Given the description of an element on the screen output the (x, y) to click on. 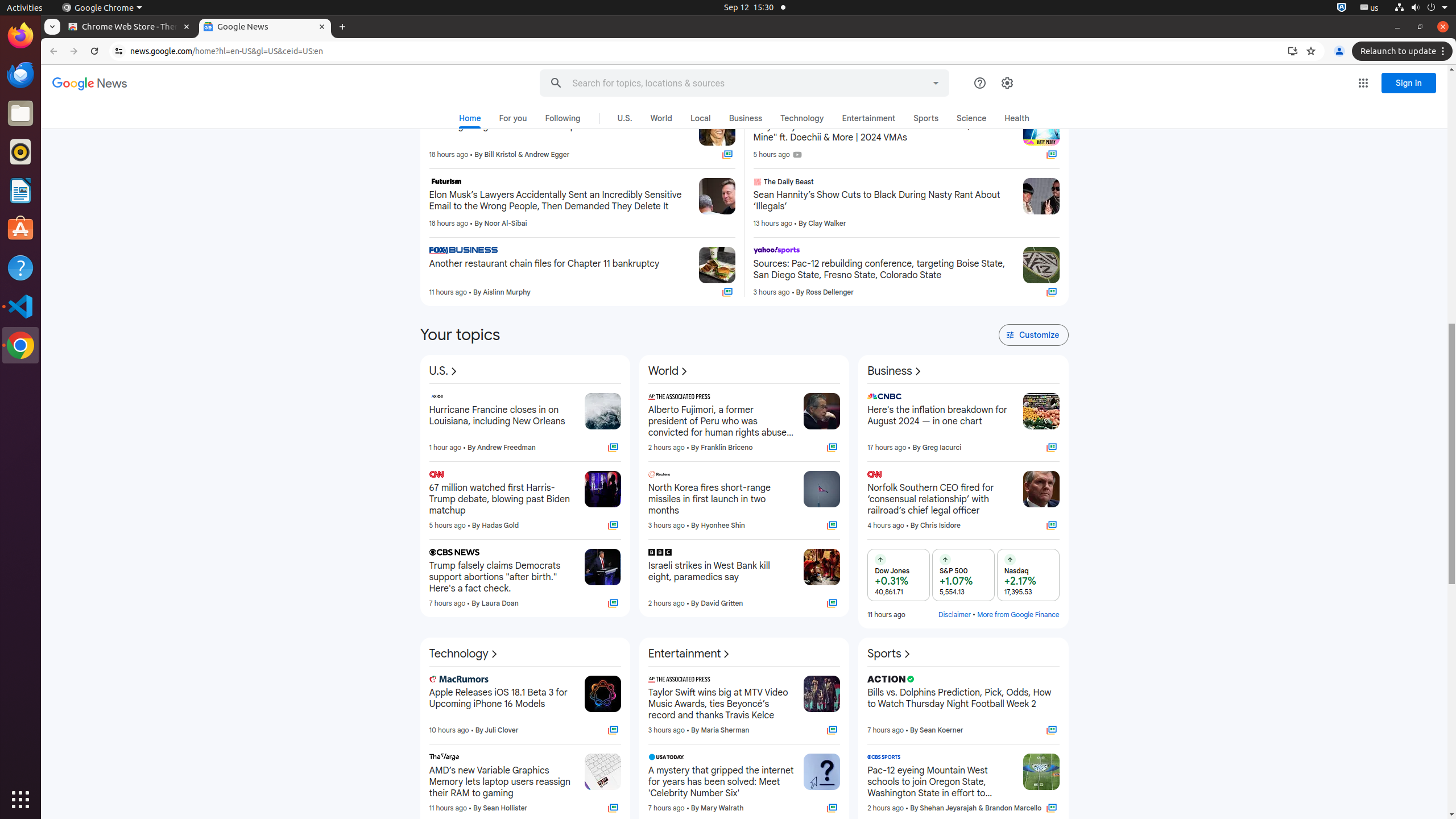
Reload Element type: push-button (94, 50)
For you Element type: menu-item (512, 118)
Google apps Element type: push-button (1362, 82)
More - North Korea fires short-range missiles in first launch in two months Element type: push-button (791, 476)
You Element type: push-button (1339, 50)
